Given the description of an element on the screen output the (x, y) to click on. 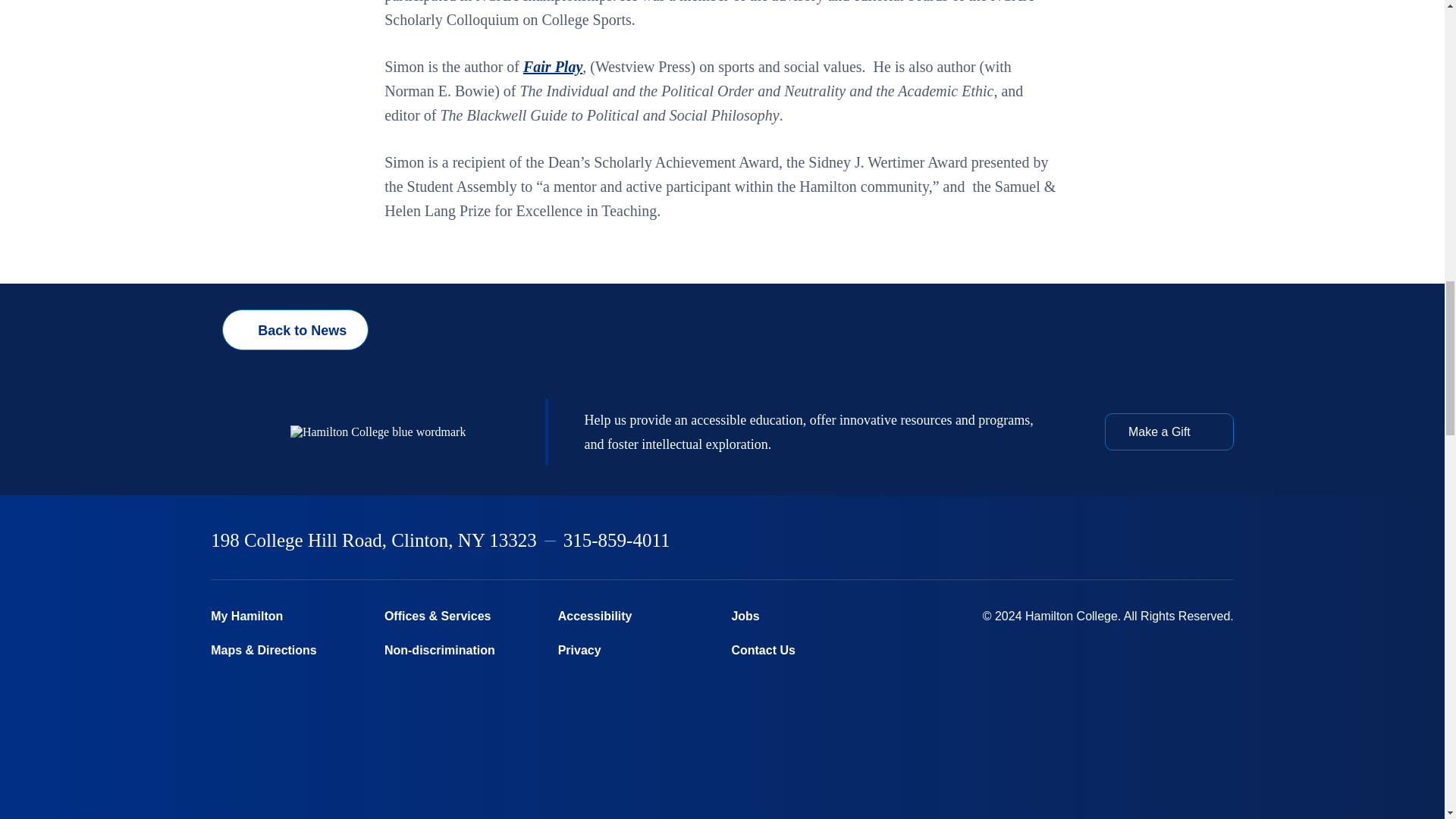
TikTok (1226, 540)
Back to News (295, 329)
Fair Play (552, 66)
Linkedin (1149, 540)
315-859-4011 (617, 540)
Instagram (1109, 540)
198 College Hill Road, Clinton, NY 13323 (373, 540)
Make a Gift (1169, 431)
Twitter (1069, 541)
Youtube (1188, 541)
